Given the description of an element on the screen output the (x, y) to click on. 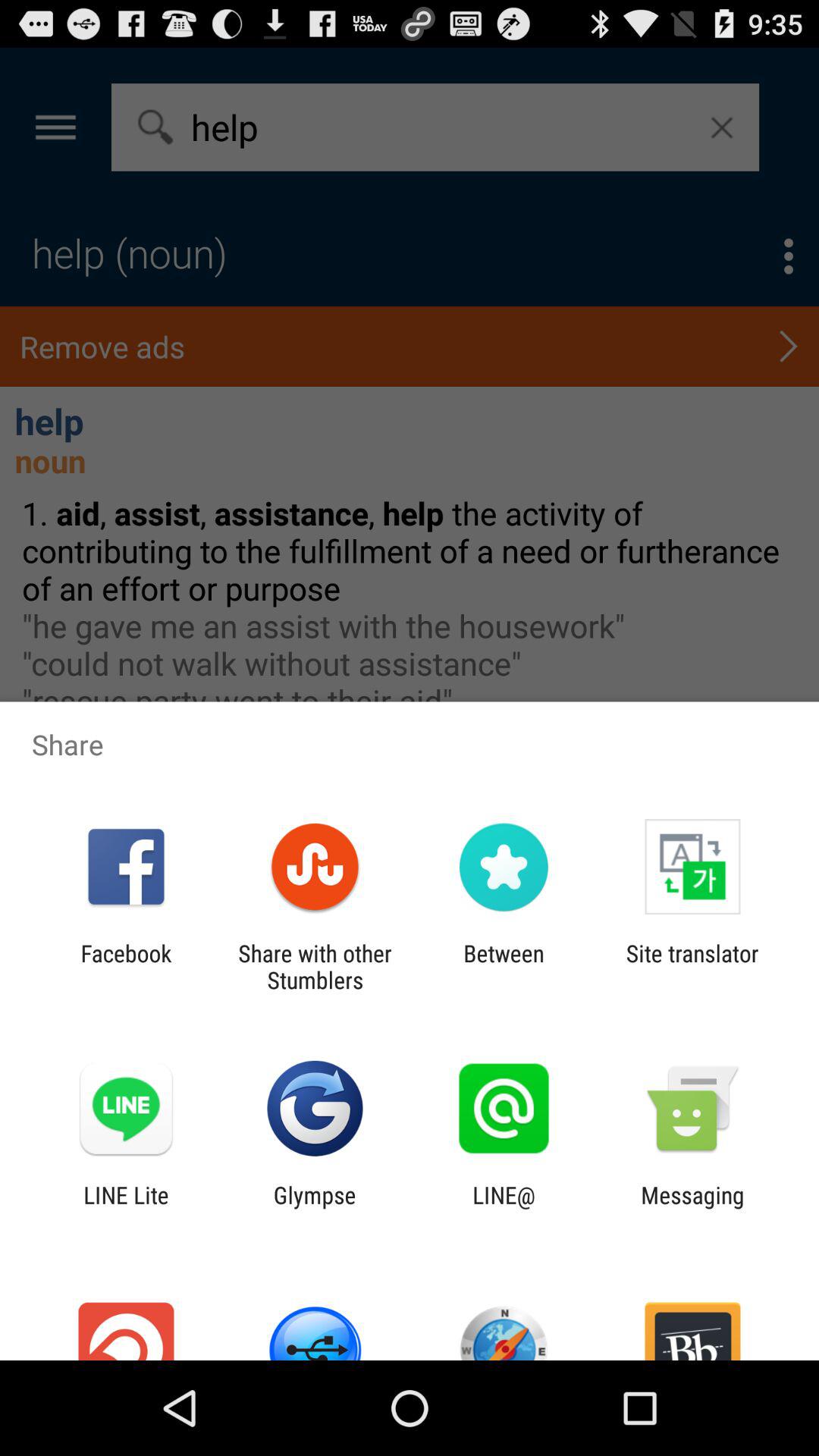
tap app to the left of share with other item (125, 966)
